Given the description of an element on the screen output the (x, y) to click on. 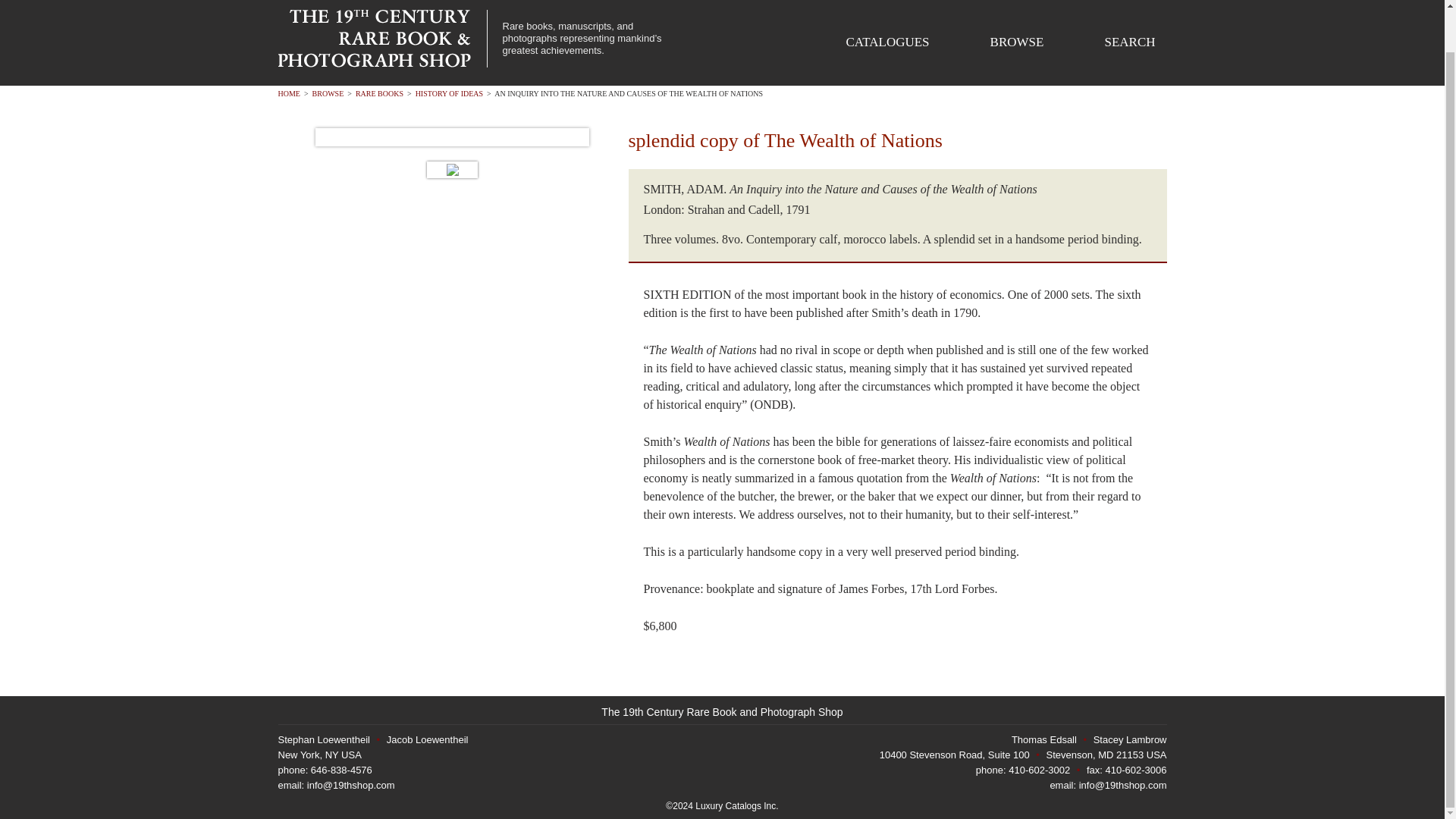
HOME (288, 93)
RARE BOOKS (379, 93)
Go to the History of Ideas Book Category archives. (448, 93)
BROWSE (1016, 41)
Go to Browse. (328, 93)
BROWSE (328, 93)
Go to The 19th Century Rare Book and Photograph Shop. (288, 93)
HISTORY OF IDEAS (448, 93)
CATALOGUES (886, 41)
Go to the Rare Books Book Category archives. (379, 93)
SEARCH (1128, 41)
